Given the description of an element on the screen output the (x, y) to click on. 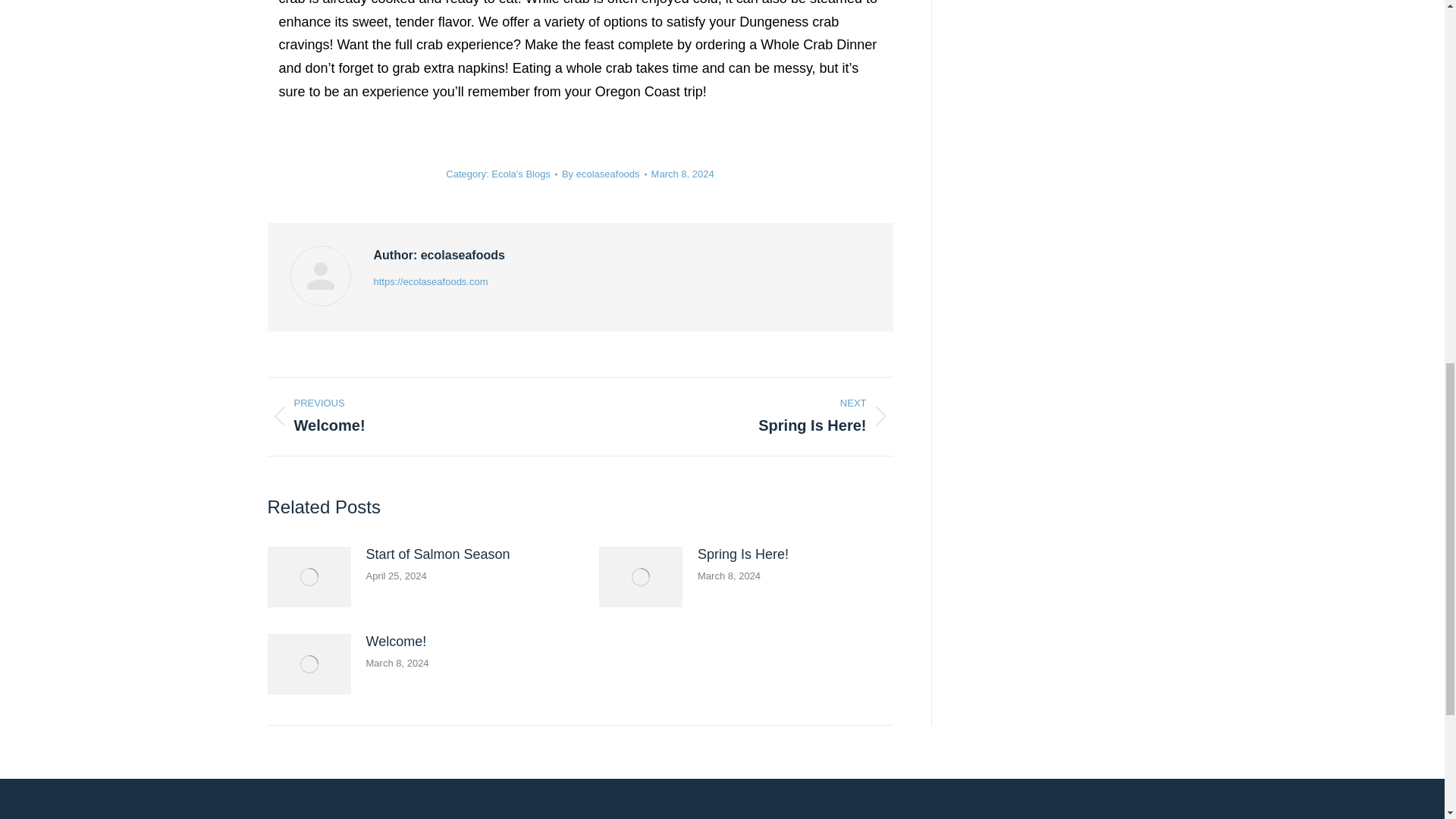
View all posts by ecolaseafoods (604, 173)
11:25 pm (682, 173)
